Given the description of an element on the screen output the (x, y) to click on. 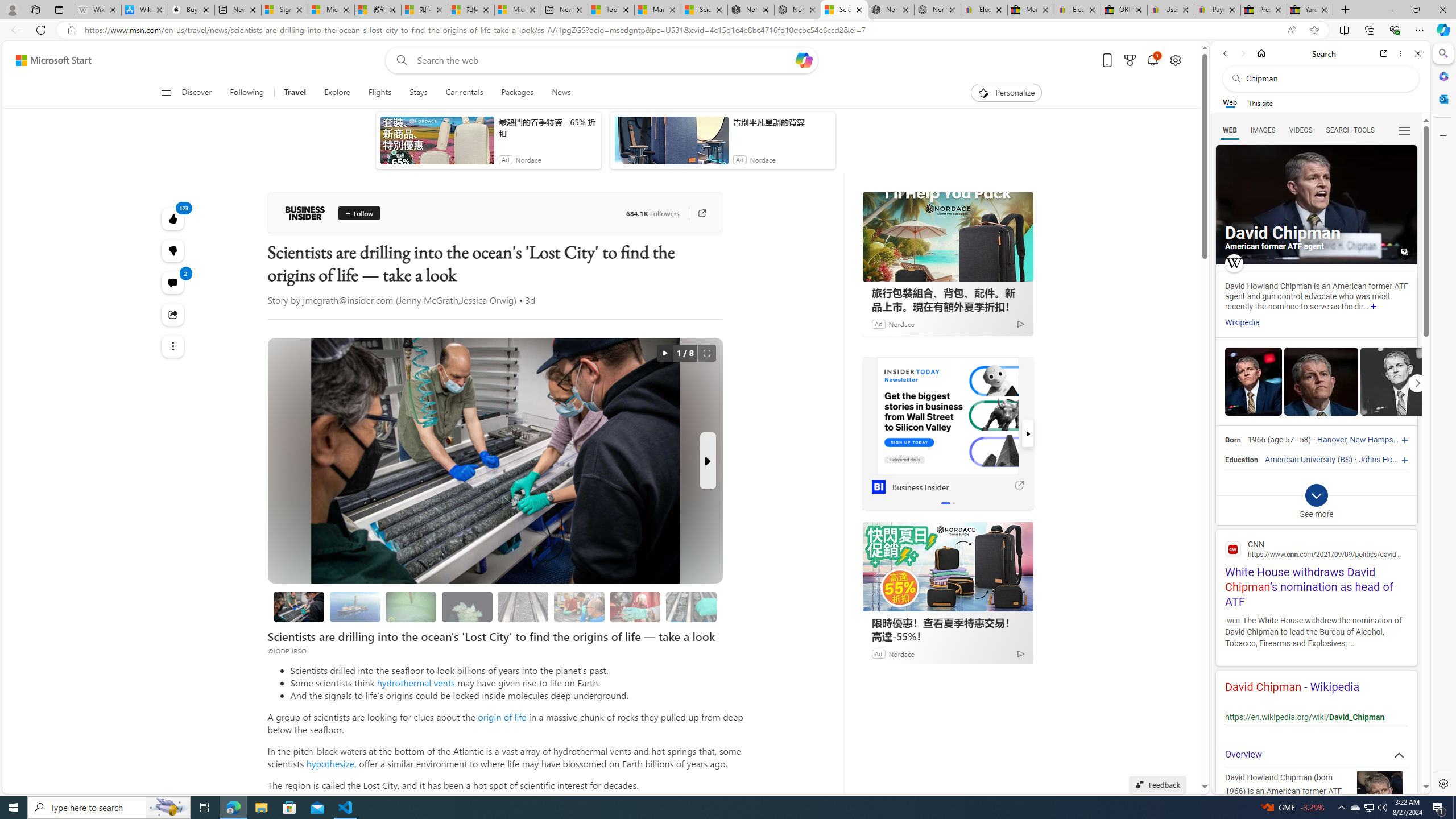
Hanover (1331, 439)
Go to publisher's site (701, 213)
Class: at-item (172, 345)
Class: progress (691, 604)
